Given the description of an element on the screen output the (x, y) to click on. 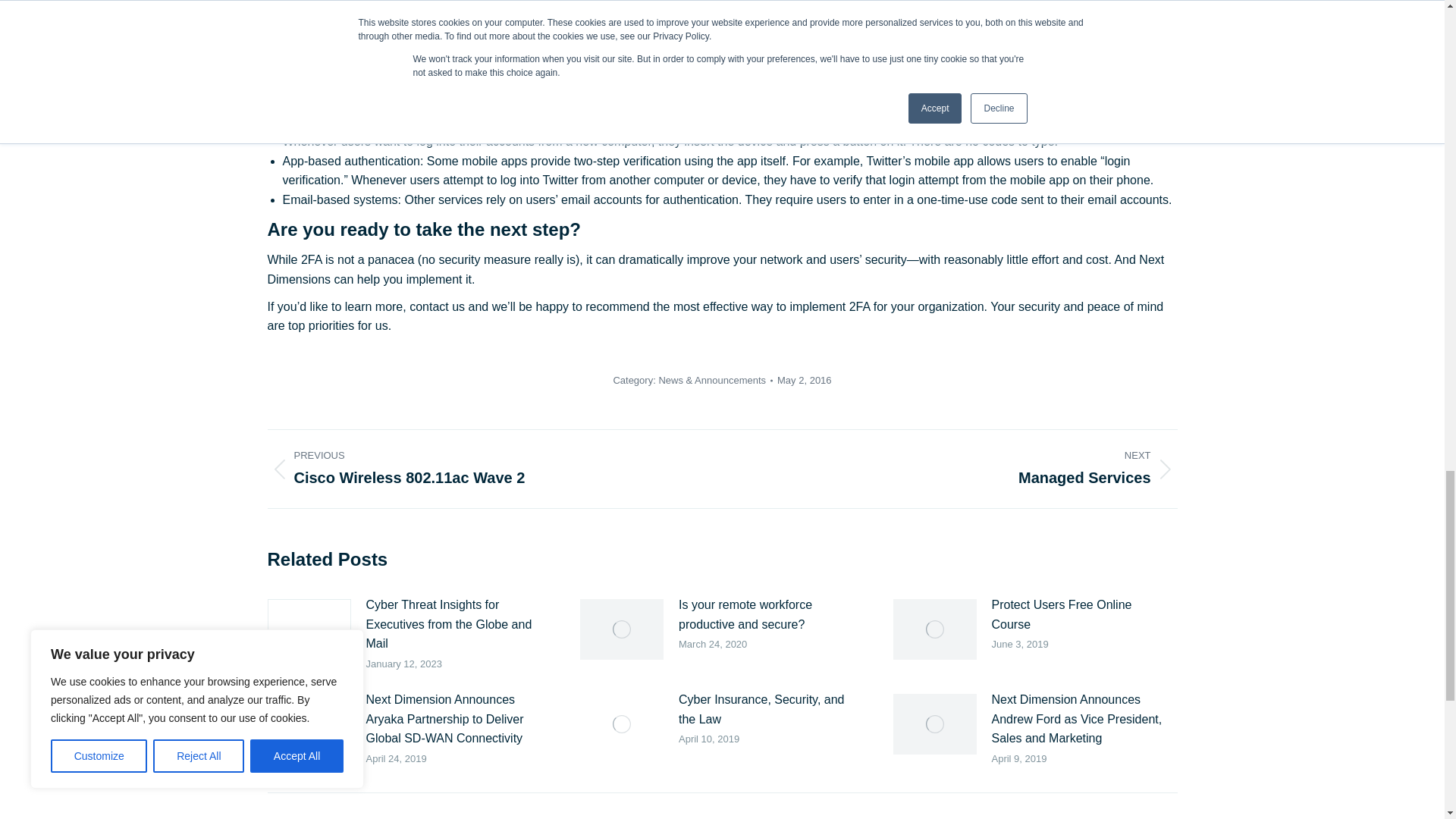
May 2, 2016 (482, 468)
7:00 pm (804, 380)
